Given the description of an element on the screen output the (x, y) to click on. 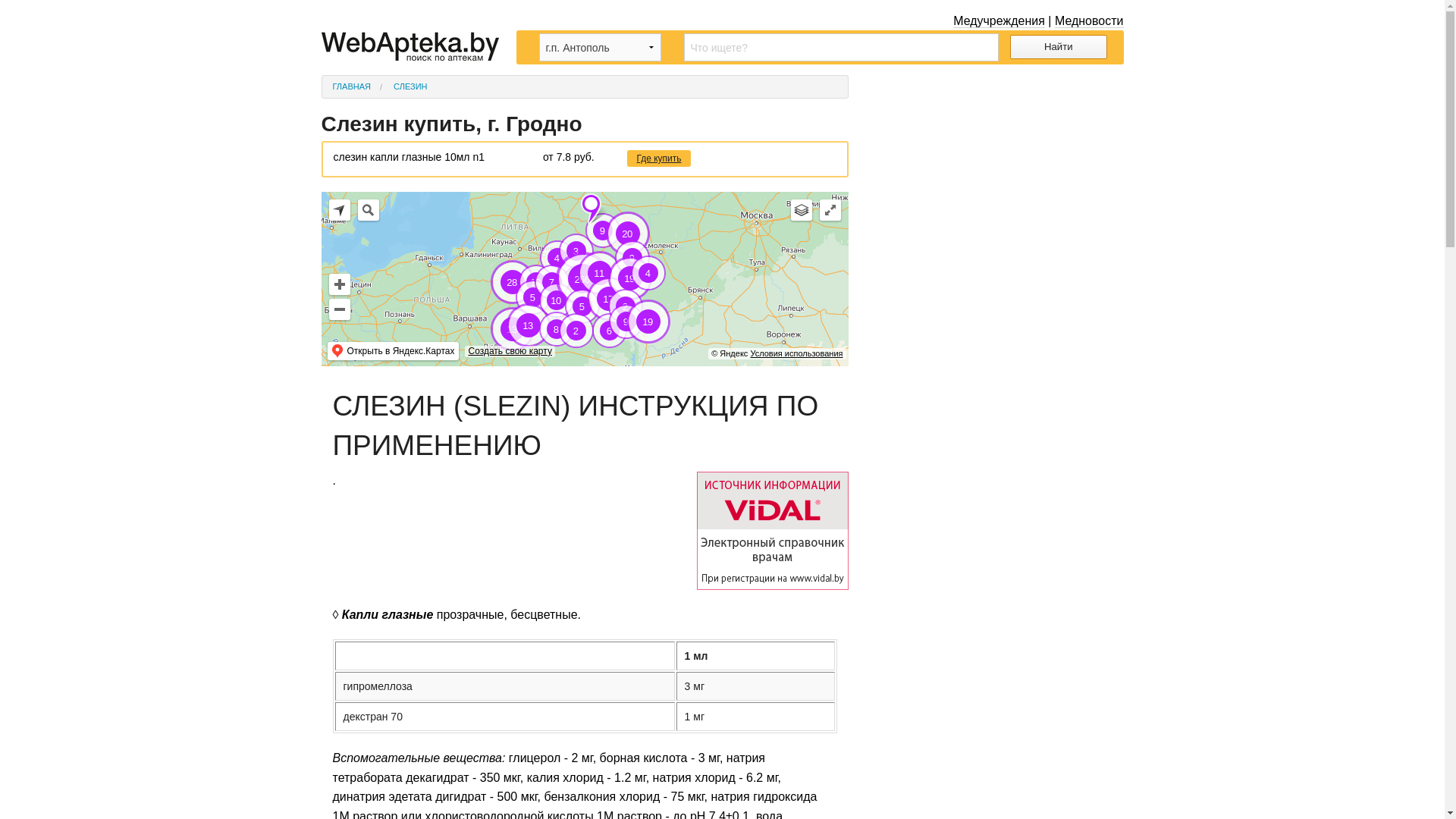
Advertisement Element type: hover (997, 169)
